Given the description of an element on the screen output the (x, y) to click on. 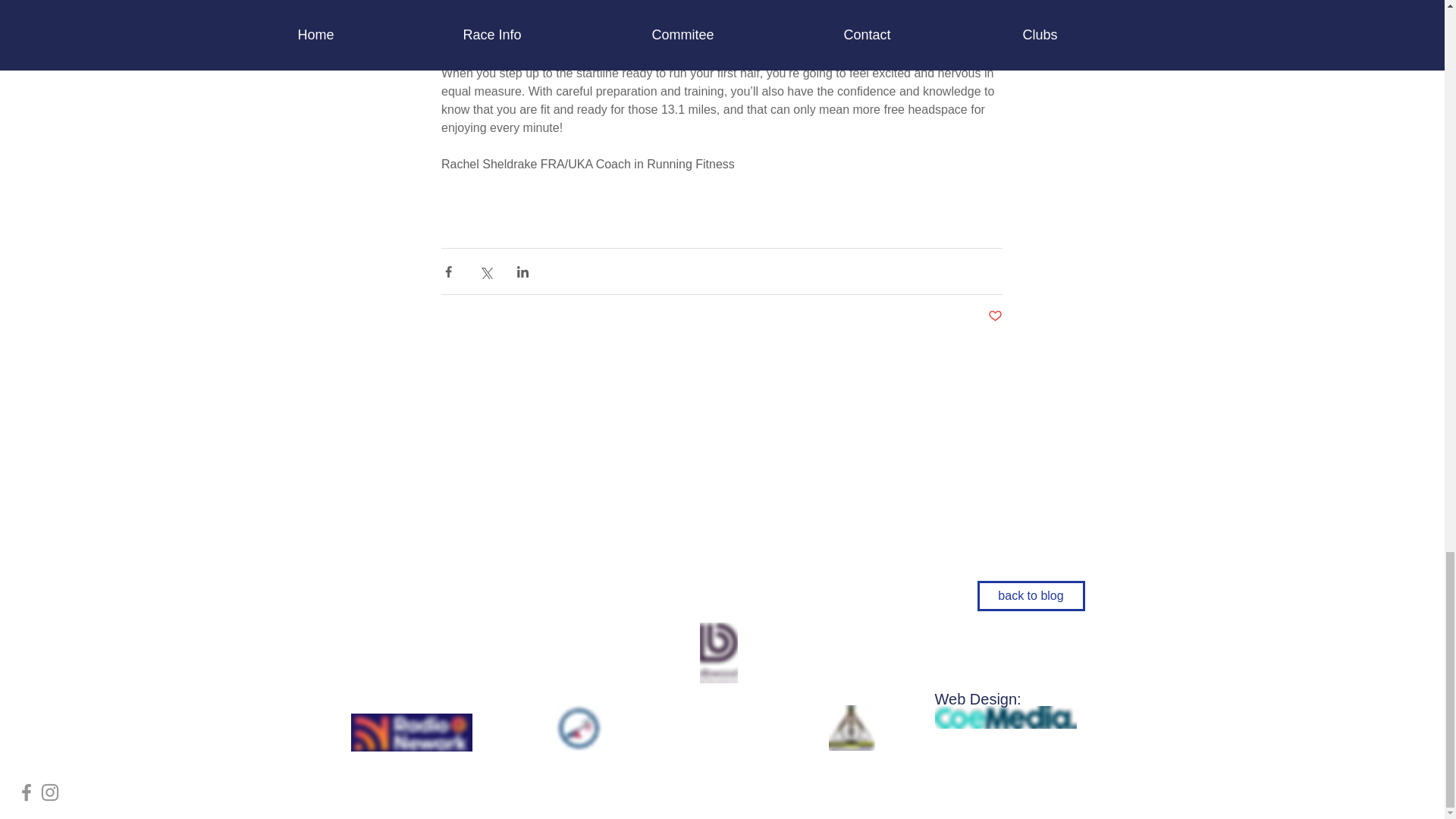
Post not marked as liked (994, 316)
back to blog (1030, 595)
Coemedia logo colour.png (1004, 716)
